Given the description of an element on the screen output the (x, y) to click on. 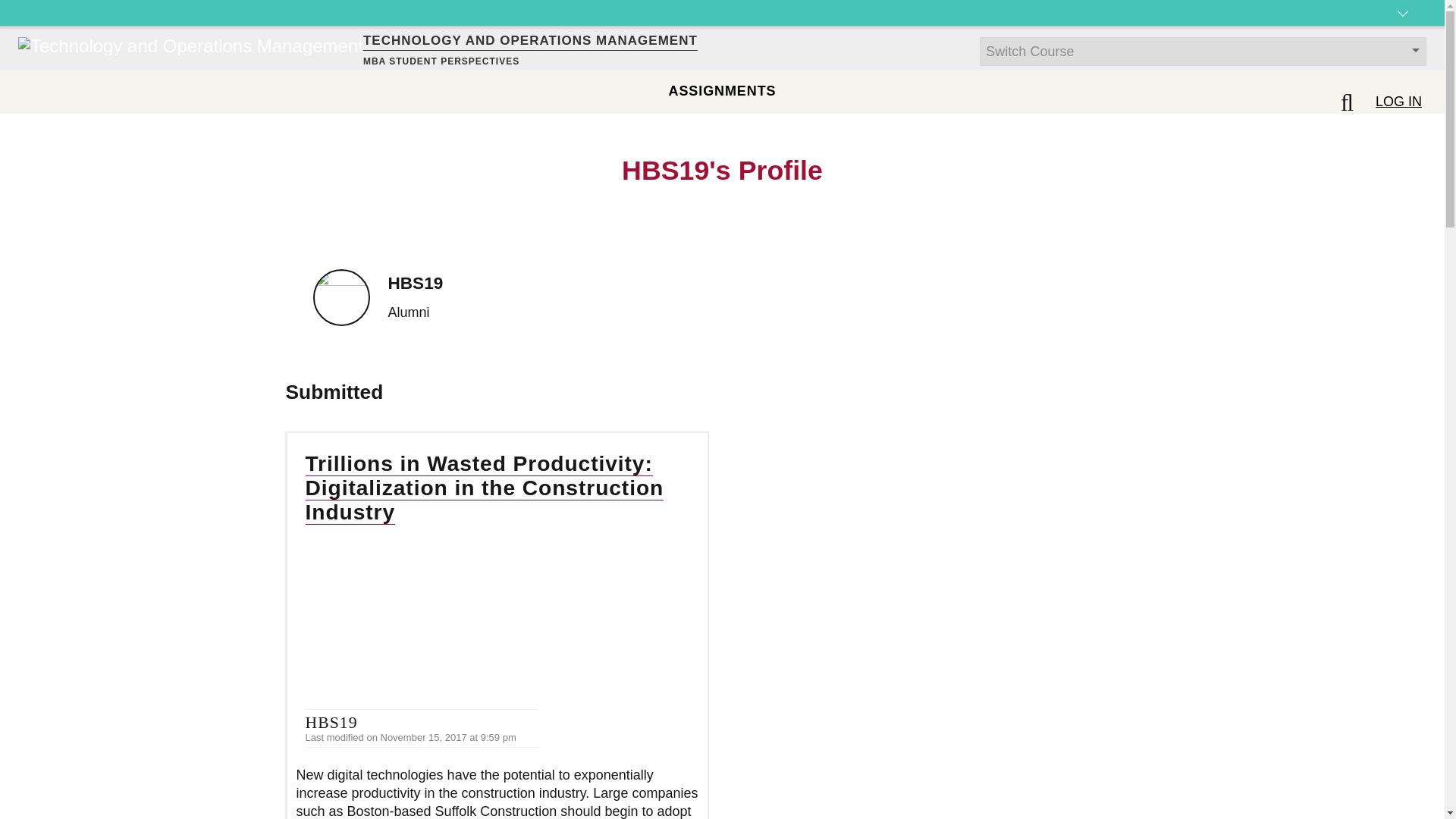
Expand. (1403, 26)
Go (18, 9)
LOG IN (1398, 101)
ASSIGNMENTS (722, 90)
